Given the description of an element on the screen output the (x, y) to click on. 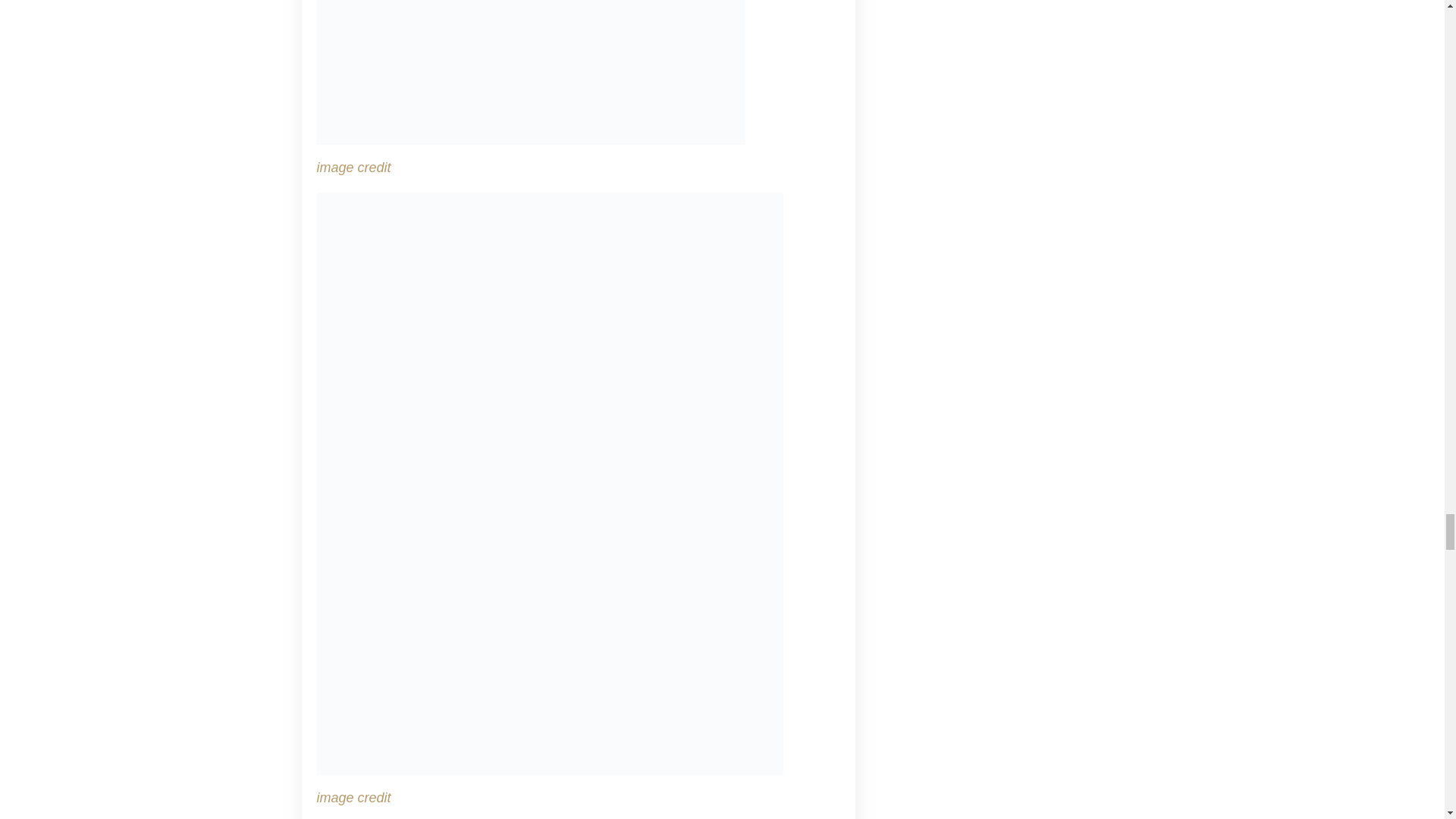
image credit (354, 167)
